Given the description of an element on the screen output the (x, y) to click on. 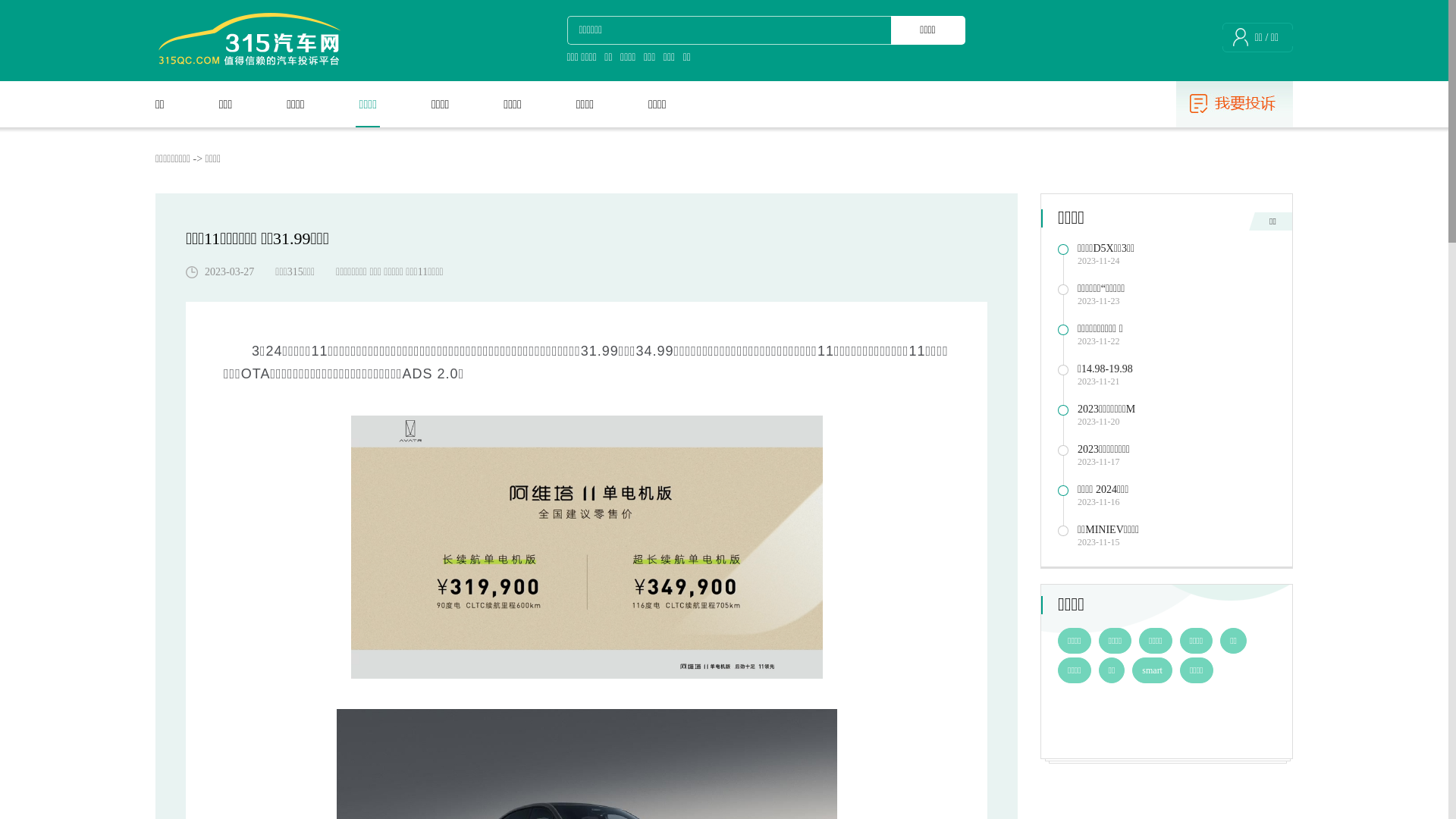
smart Element type: text (1152, 670)
